Given the description of an element on the screen output the (x, y) to click on. 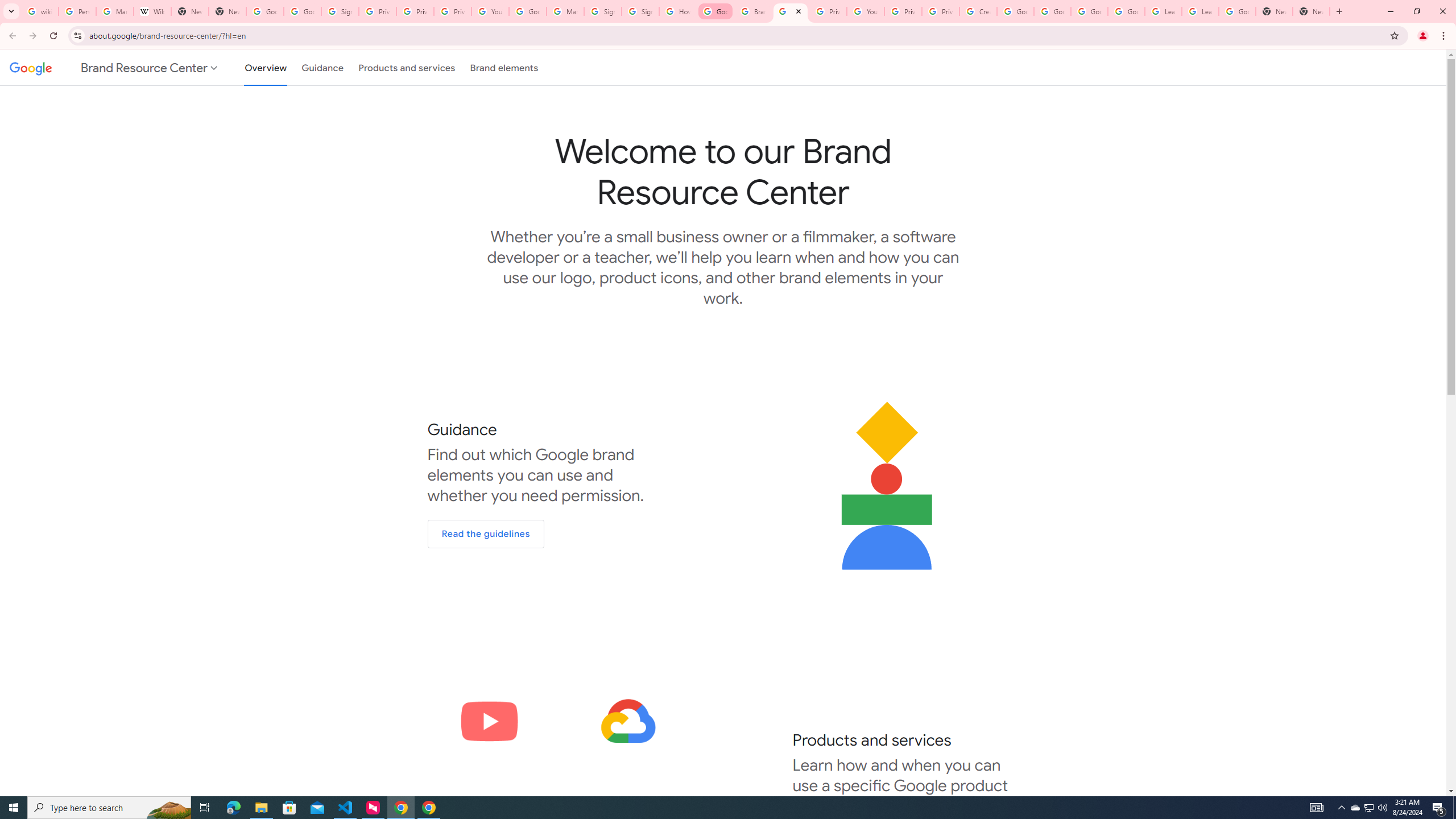
Brand Resource Center (790, 11)
Google Drive: Sign-in (302, 11)
Wikipedia:Edit requests - Wikipedia (152, 11)
Google Account Help (1015, 11)
